Given the description of an element on the screen output the (x, y) to click on. 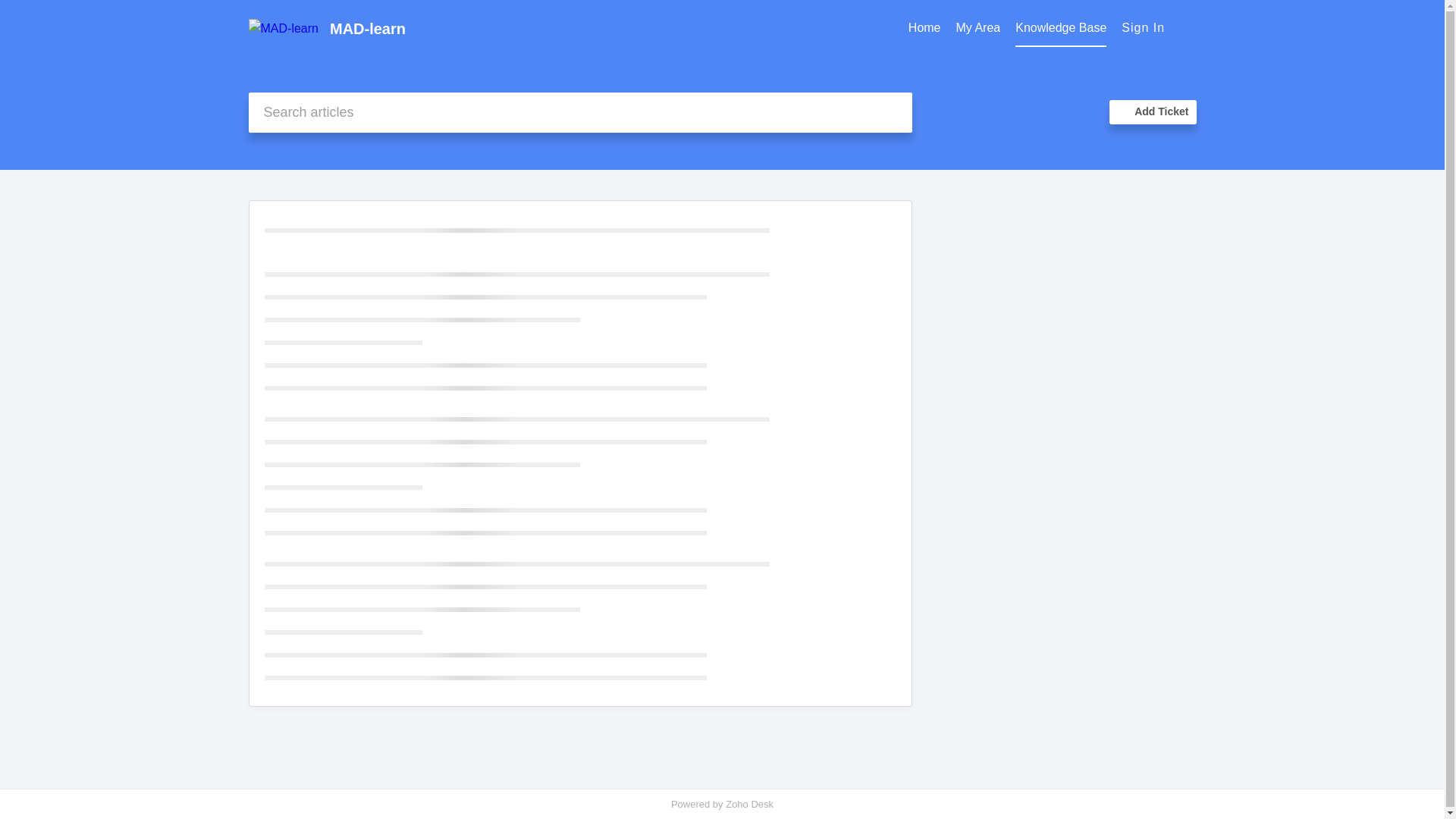
Knowledge Base (1060, 27)
Sign In (1142, 27)
Knowledge Base (1060, 28)
My Area (978, 27)
Home (924, 27)
MAD-learn (615, 28)
Zoho Desk (749, 803)
Add Ticket (1152, 111)
My Area (978, 28)
Home (924, 28)
